Given the description of an element on the screen output the (x, y) to click on. 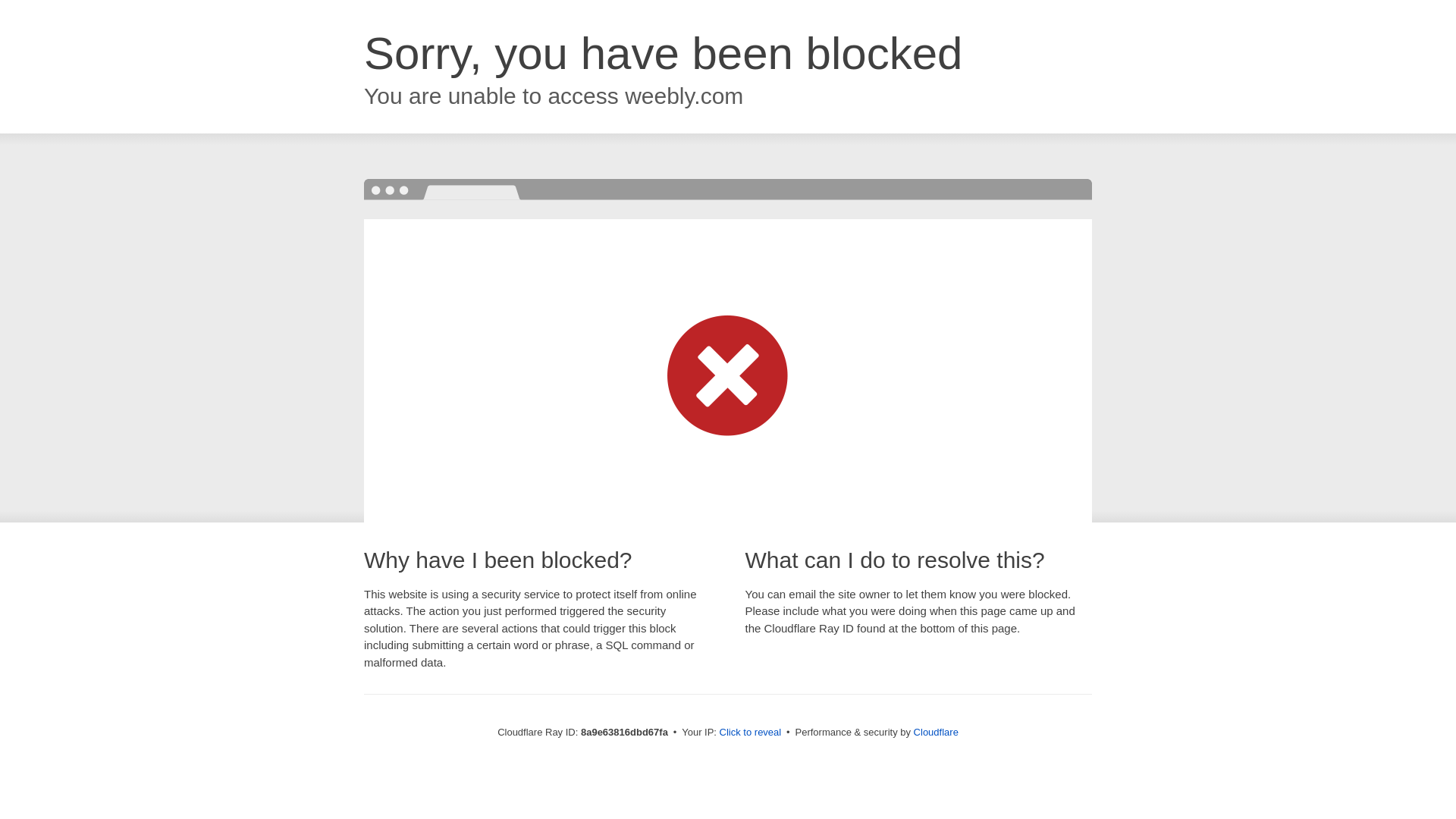
Click to reveal (750, 732)
Cloudflare (936, 731)
